Given the description of an element on the screen output the (x, y) to click on. 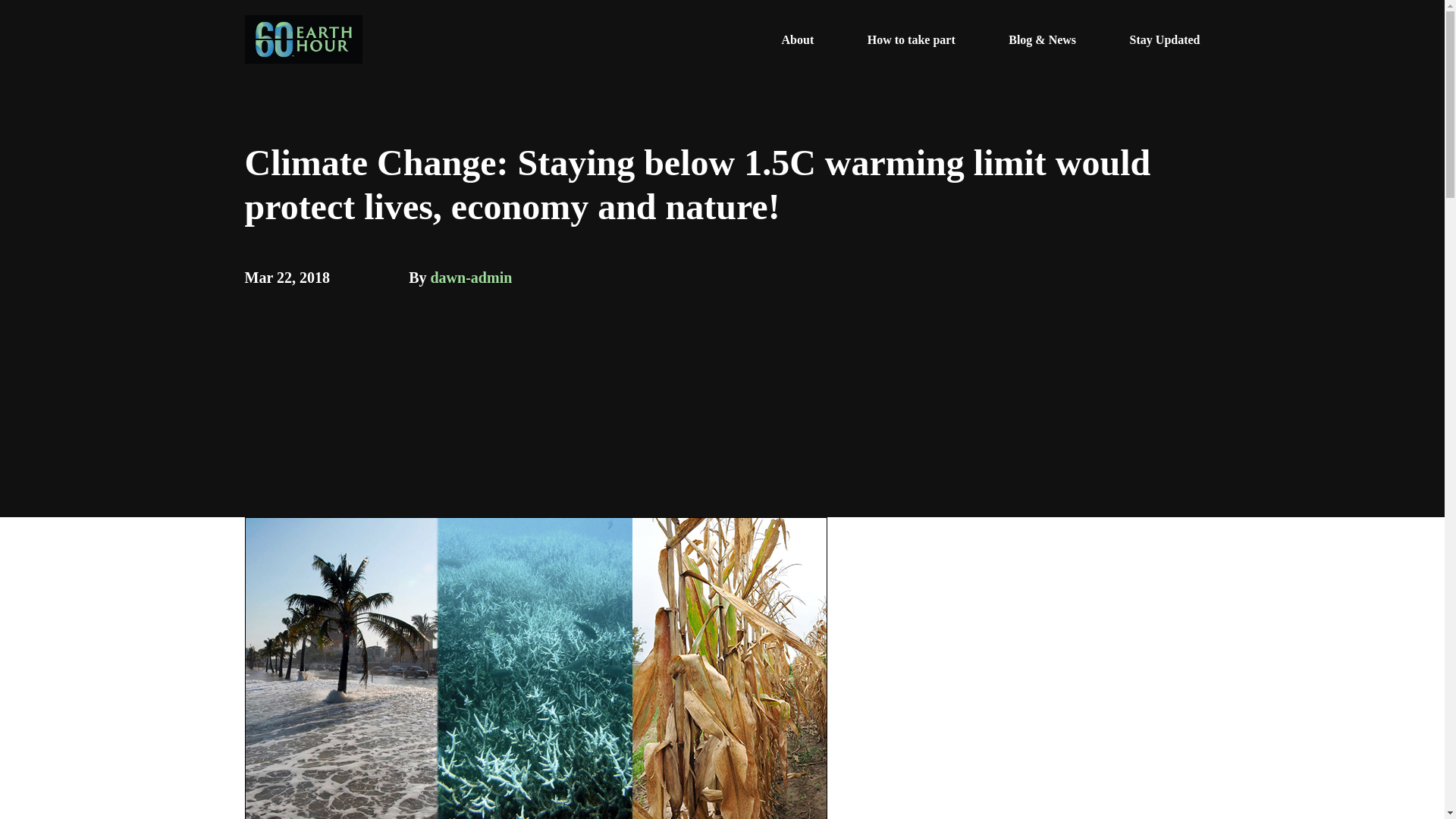
About (797, 39)
How to take part (911, 39)
Stay Updated (1164, 39)
